Given the description of an element on the screen output the (x, y) to click on. 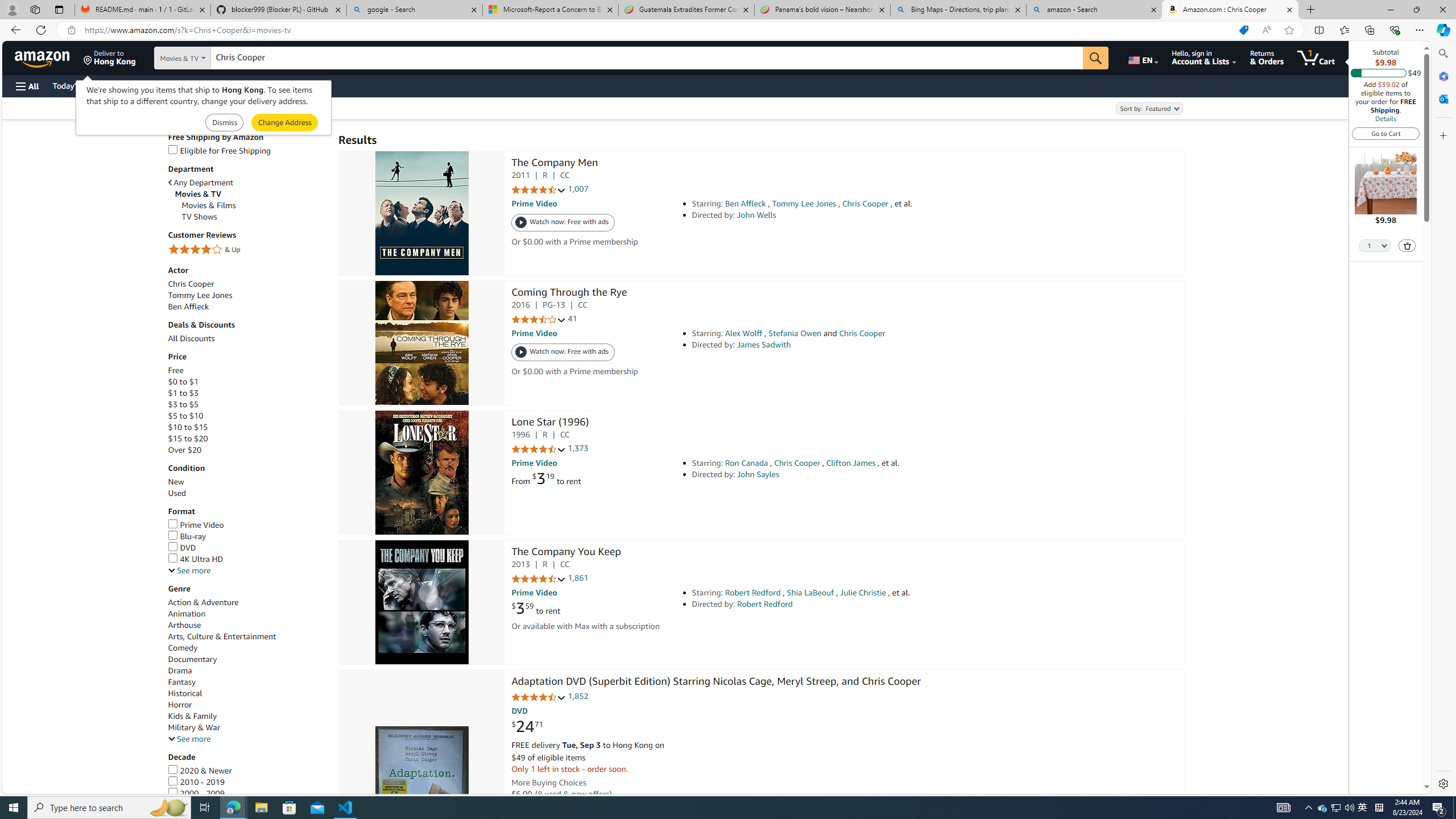
Documentary (247, 659)
Coming Through the Rye (421, 342)
Alex Wolff (743, 333)
amazon - Search (1094, 9)
1 item in cart (1315, 57)
$1 to $3 (247, 393)
Ben Affleck (247, 307)
Ron Canada (746, 462)
John Sayles (758, 474)
Blu-ray (186, 536)
$5 to $10 (247, 415)
Registry (205, 85)
